Given the description of an element on the screen output the (x, y) to click on. 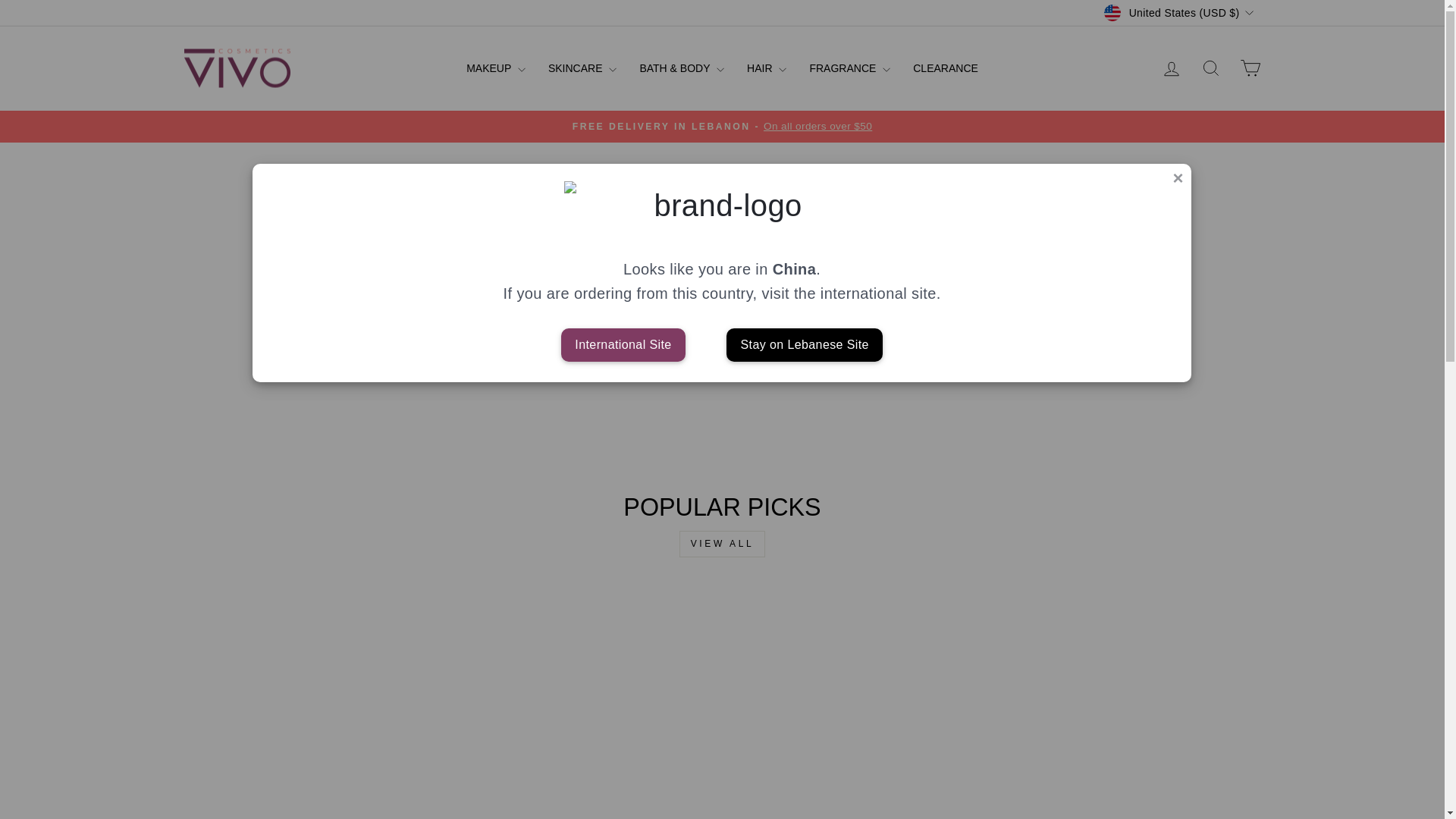
ACCOUNT (1170, 68)
ICON-SEARCH (1210, 67)
